Given the description of an element on the screen output the (x, y) to click on. 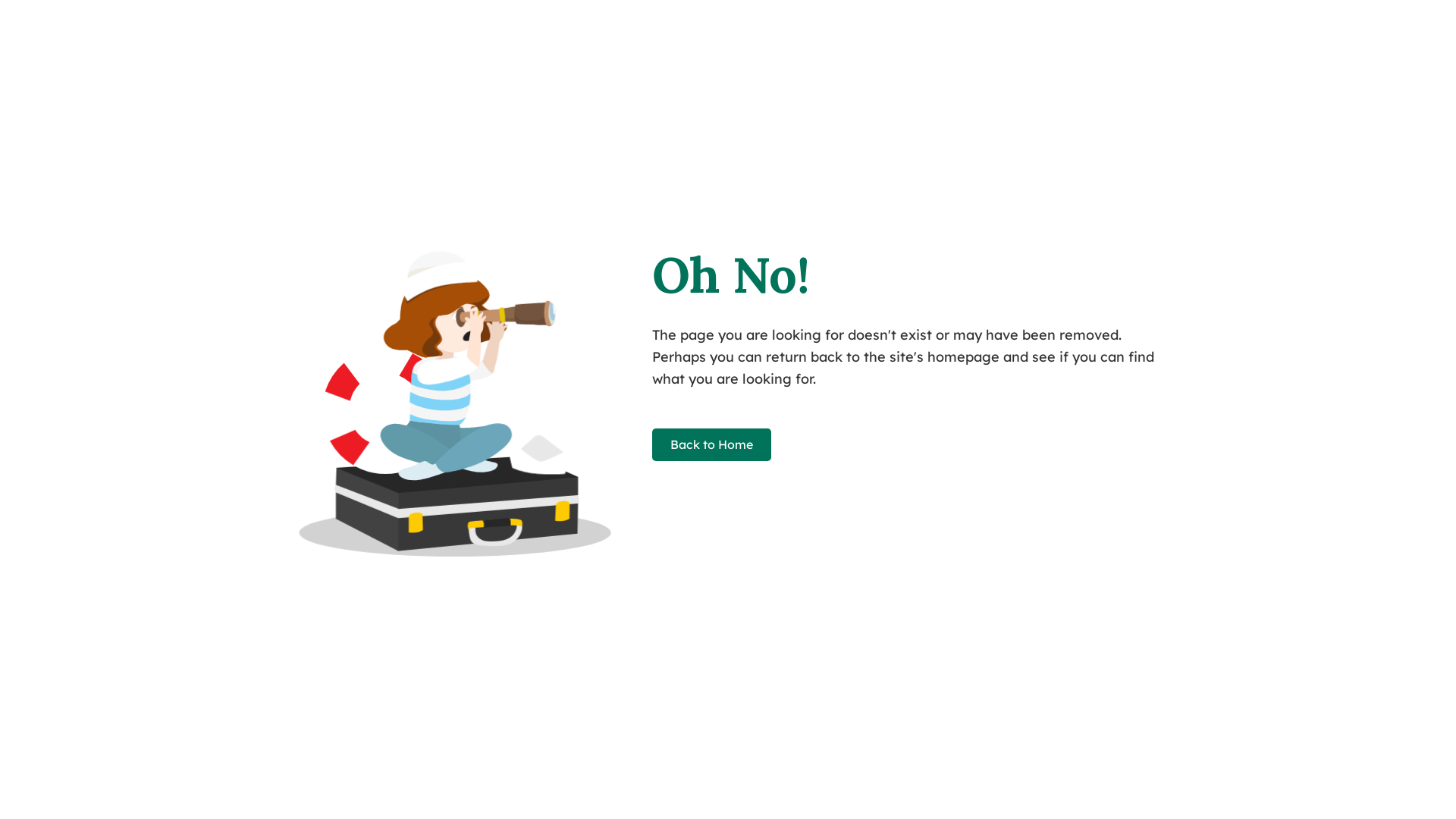
Back to Home Element type: text (711, 444)
